Given the description of an element on the screen output the (x, y) to click on. 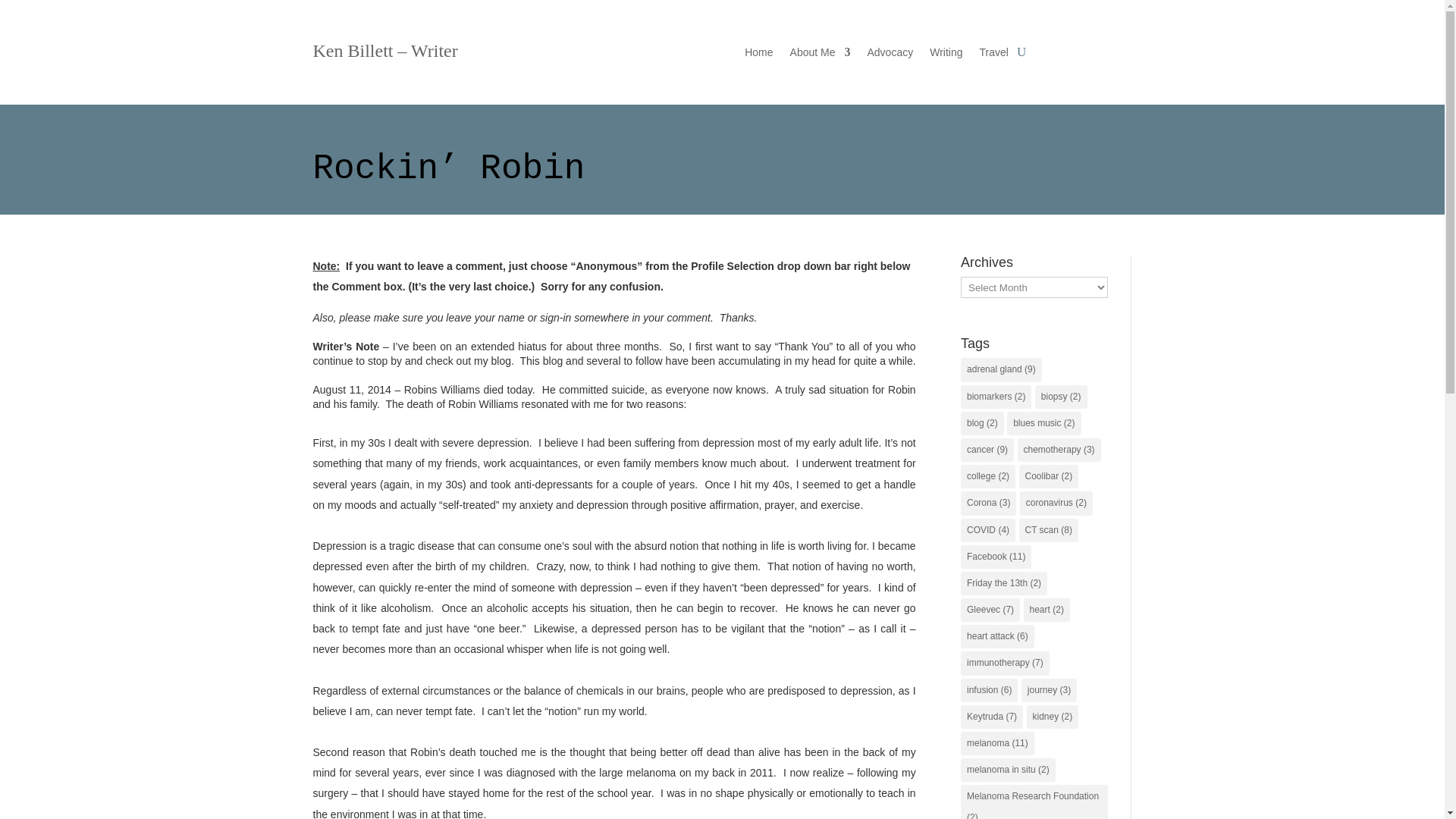
Travel (994, 54)
Home (758, 54)
Writing (946, 54)
About Me (820, 54)
Advocacy (889, 54)
